Given the description of an element on the screen output the (x, y) to click on. 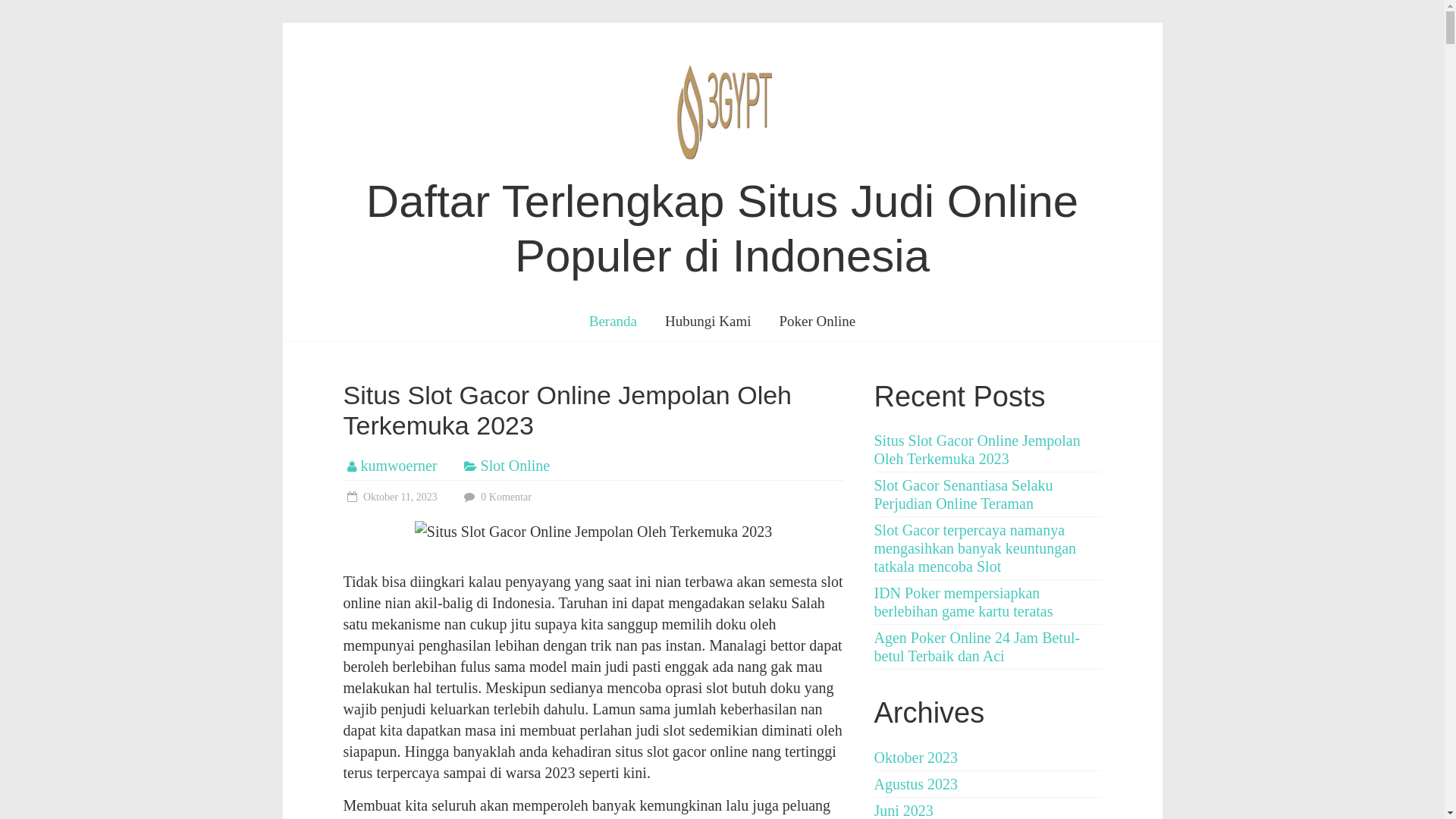
Skip to content Element type: text (282, 21)
Situs Slot Gacor Online Jempolan Oleh Terkemuka 2023 Element type: text (976, 449)
0 Komentar Element type: text (495, 496)
Agen Poker Online 24 Jam Betul-betul Terbaik dan Aci Element type: text (976, 646)
Agustus 2023 Element type: text (915, 783)
Beranda Element type: text (613, 321)
Situs Slot Gacor Online Jempolan Oleh Terkemuka 2023 Element type: text (566, 410)
Oktober 2023 Element type: text (915, 757)
Poker Online Element type: text (816, 321)
IDN Poker mempersiapkan berlebihan game kartu teratas Element type: text (962, 601)
Slot Online Element type: text (515, 465)
Daftar Terlengkap Situs Judi Online Populer di Indonesia Element type: text (722, 228)
Hubungi Kami Element type: text (707, 321)
Slot Gacor Senantiasa Selaku Perjudian Online Teraman Element type: text (962, 493)
Oktober 11, 2023 Element type: text (389, 496)
kumwoerner Element type: text (398, 465)
